Given the description of an element on the screen output the (x, y) to click on. 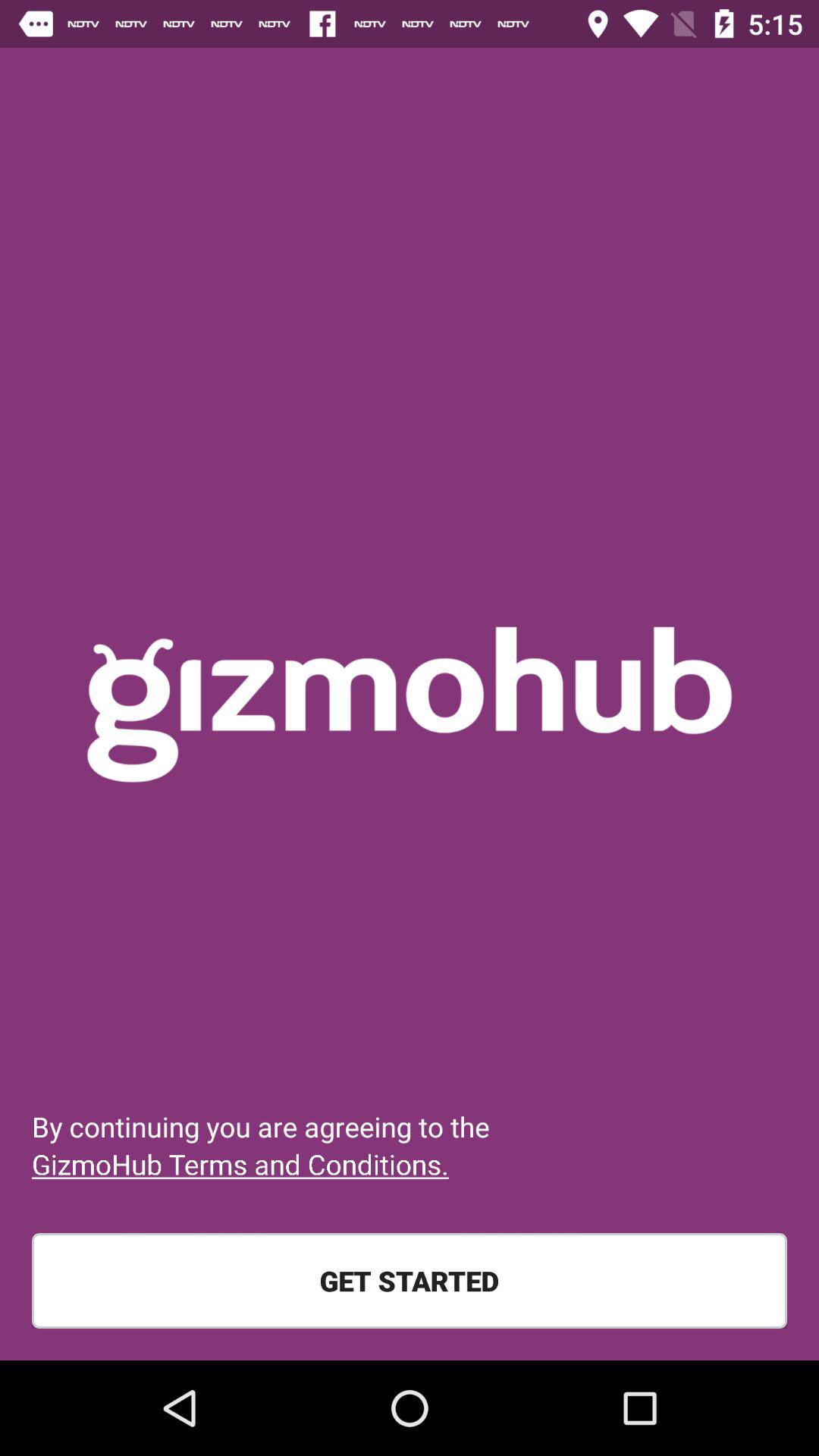
select icon below the by continuing you item (239, 1164)
